Given the description of an element on the screen output the (x, y) to click on. 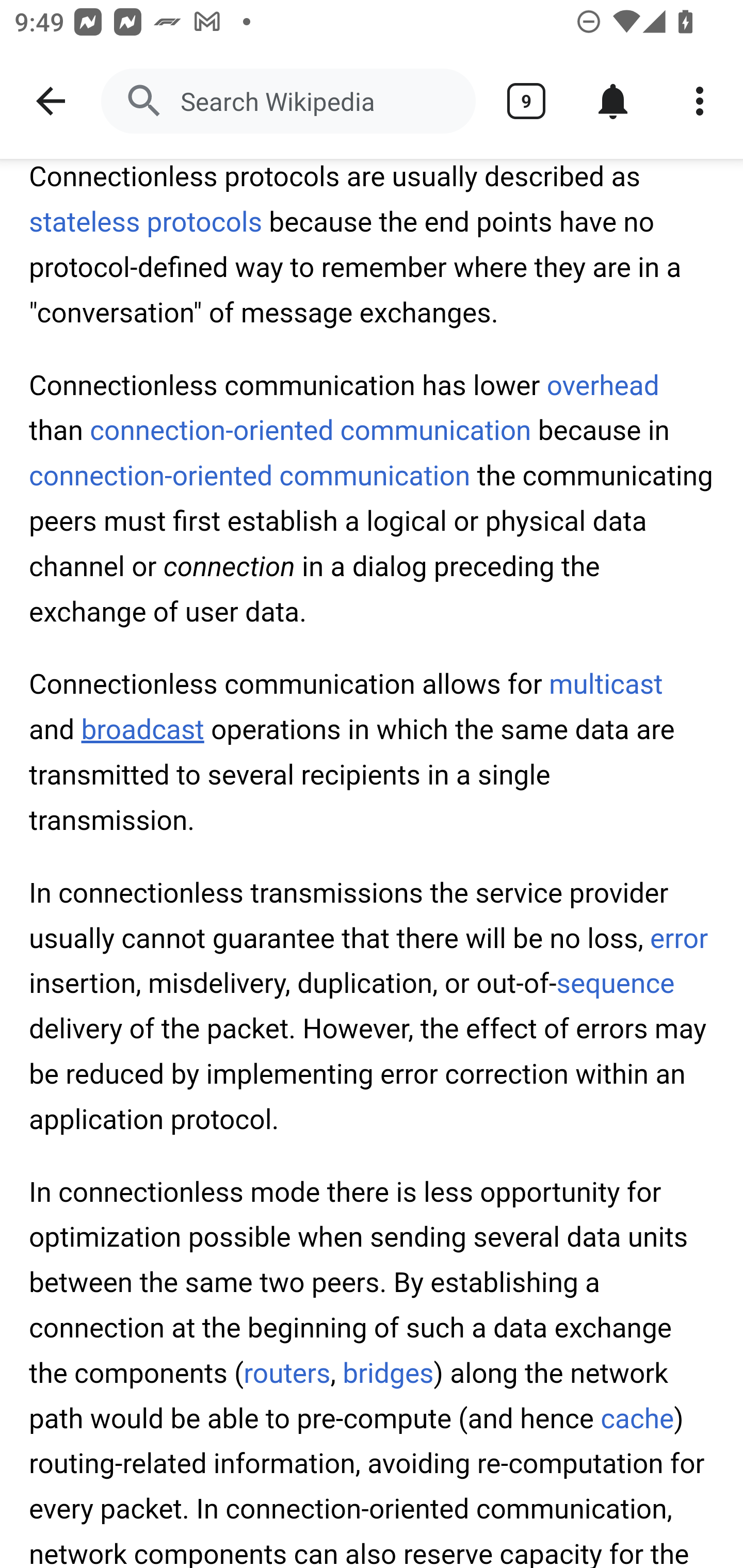
Show tabs 9 (525, 100)
Notifications (612, 100)
Navigate up (50, 101)
More options (699, 101)
Search Wikipedia (288, 100)
stateless protocols (145, 222)
overhead (603, 385)
connection-oriented communication (310, 430)
connection-oriented communication (249, 476)
multicast (605, 684)
broadcast (142, 730)
error (679, 937)
sequence (615, 984)
routers (287, 1372)
bridges (387, 1372)
cache (637, 1418)
